Given the description of an element on the screen output the (x, y) to click on. 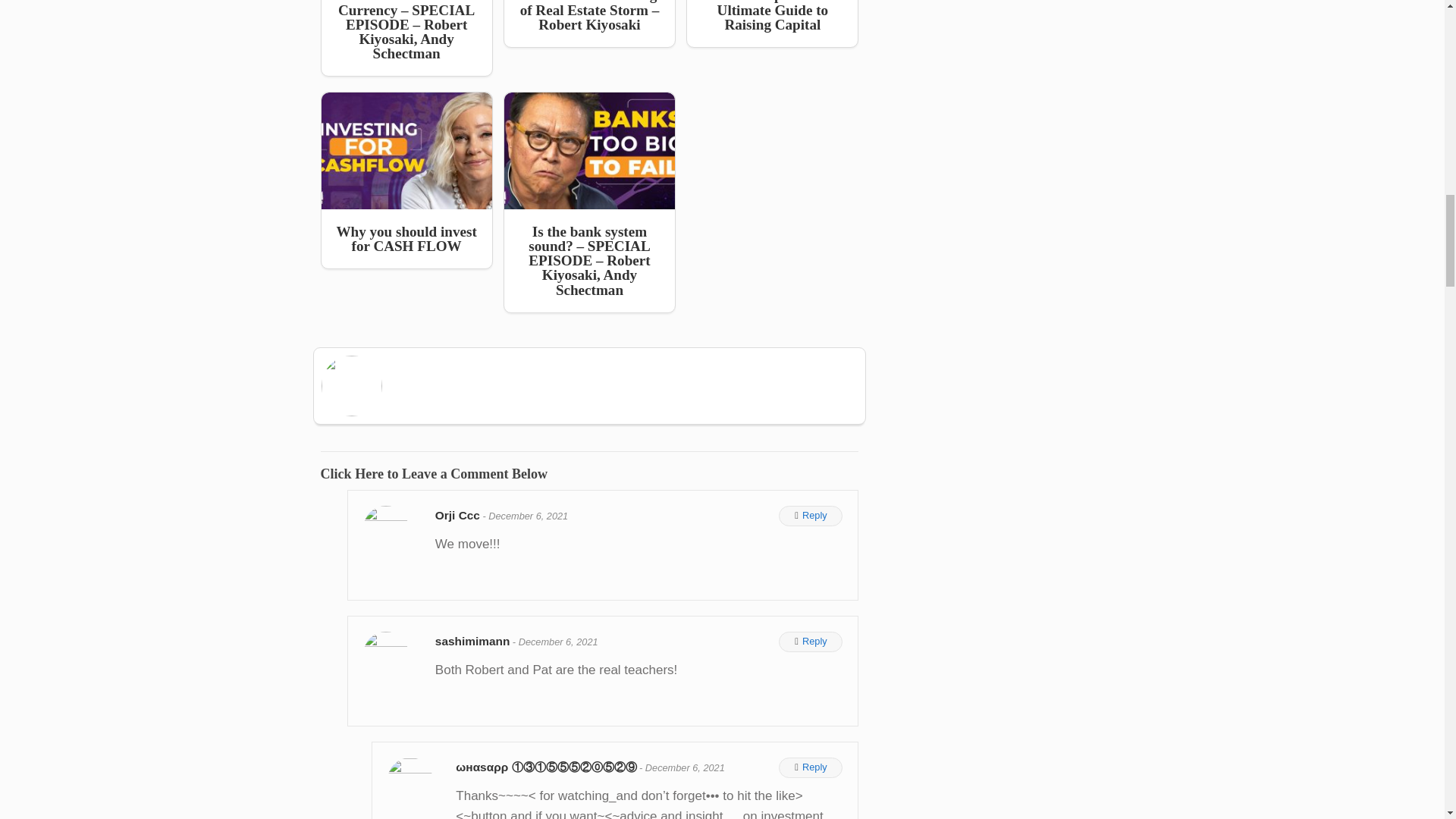
Why you should invest for CASH FLOW (406, 180)
